Given the description of an element on the screen output the (x, y) to click on. 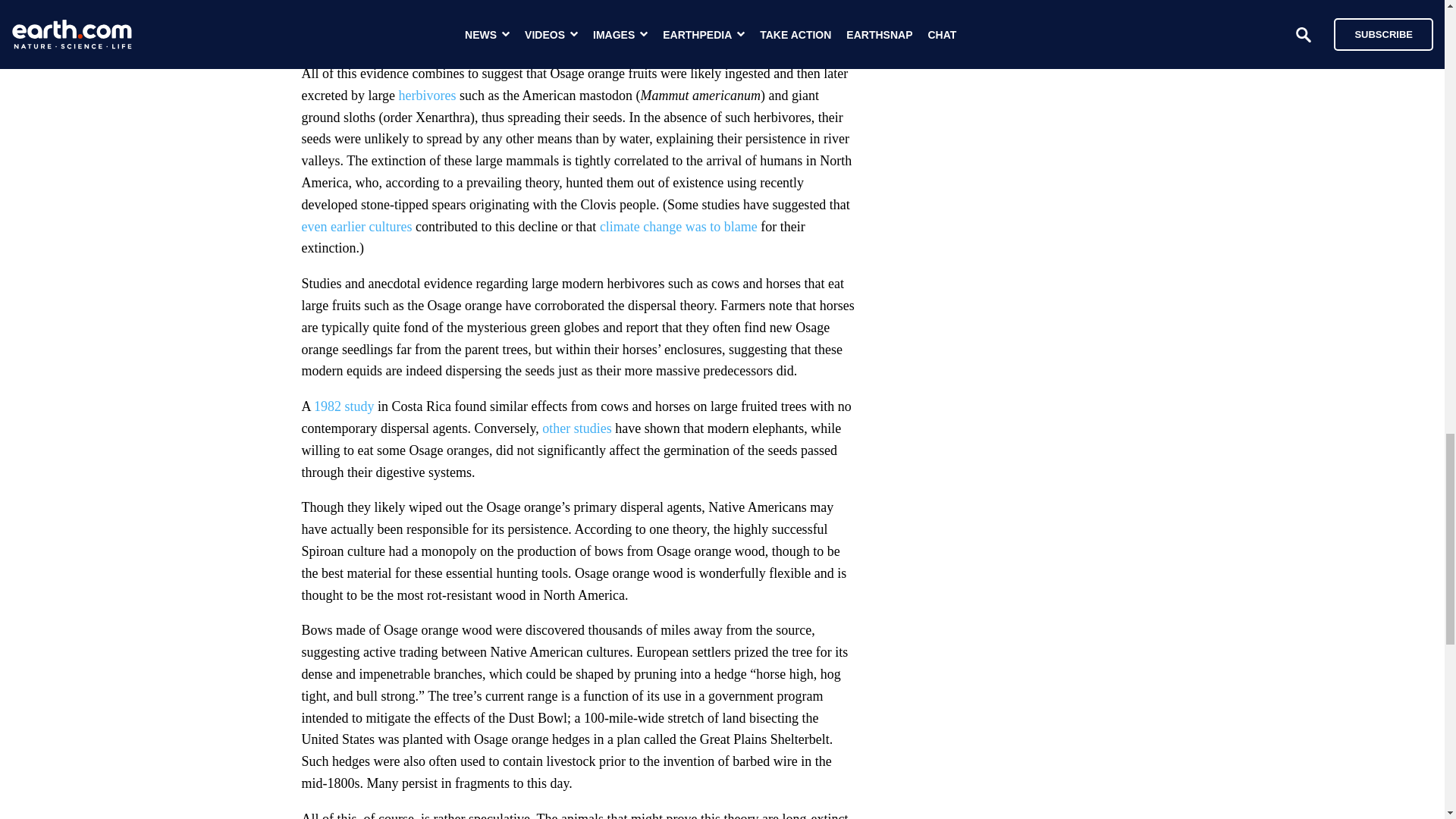
other studies (576, 427)
1982 study (344, 406)
herbivores (427, 95)
even earlier cultures (356, 226)
climate change was to blame (678, 226)
